Given the description of an element on the screen output the (x, y) to click on. 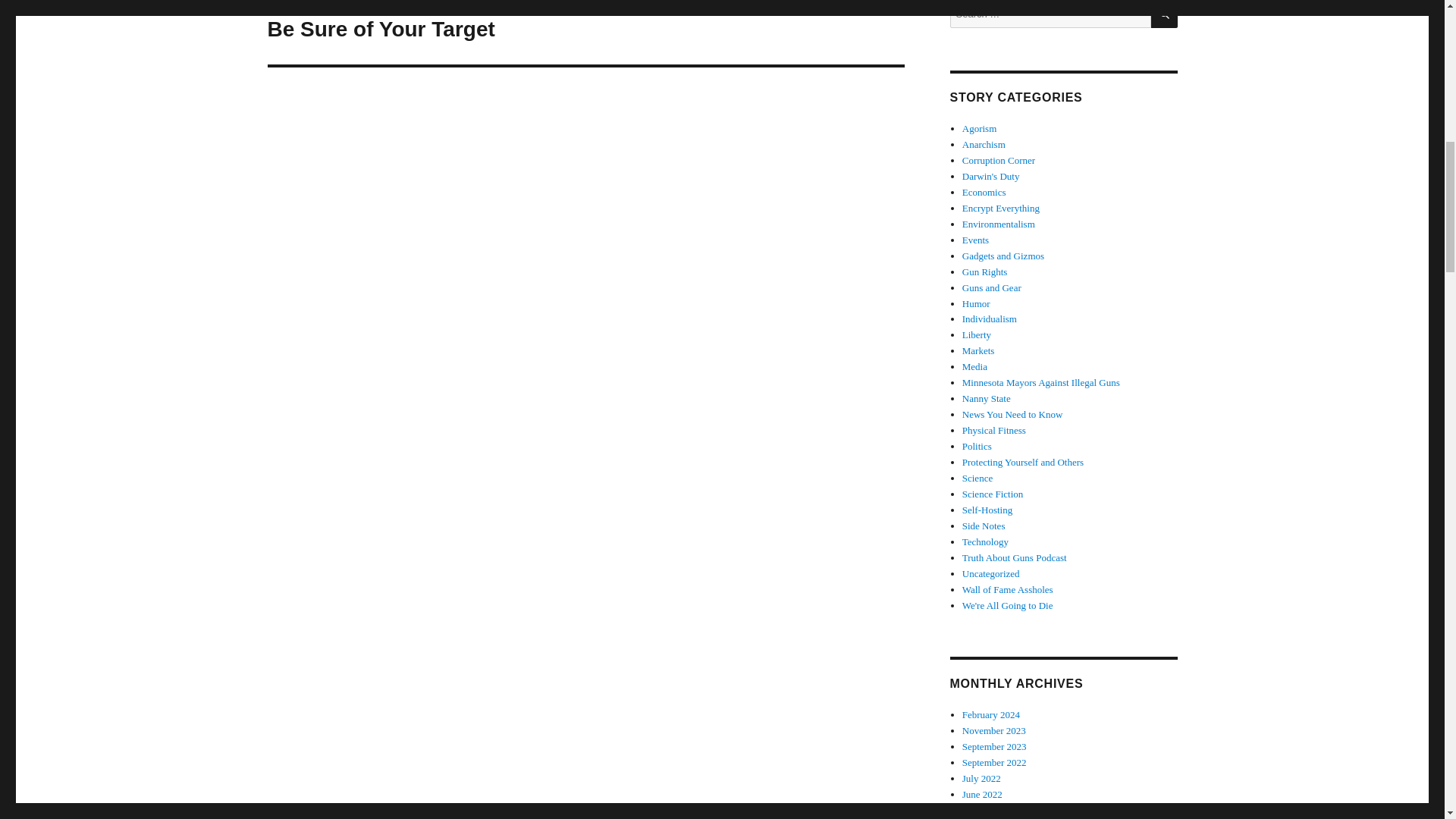
Physical Fitness (585, 32)
Economics (994, 430)
Darwin's Duty (984, 192)
Politics (991, 175)
Events (976, 446)
Gadgets and Gizmos (975, 239)
Markets (1002, 255)
Gun Rights (978, 350)
Protecting Yourself and Others (984, 271)
Guns and Gear (1022, 461)
Science (992, 287)
Encrypt Everything (977, 478)
Corruption Corner (1000, 207)
Media (998, 160)
